Given the description of an element on the screen output the (x, y) to click on. 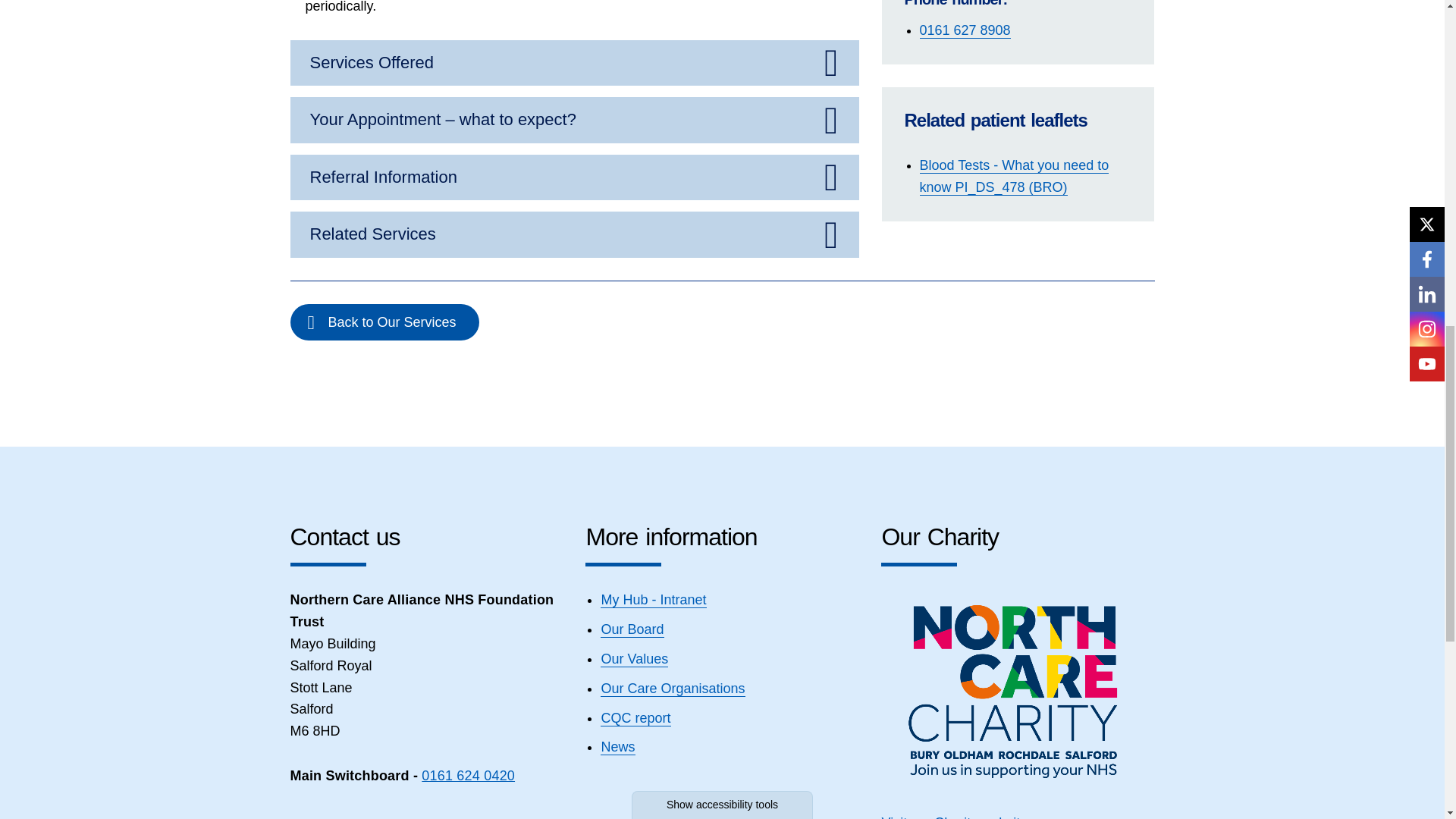
Back to Our Services (384, 321)
